Given the description of an element on the screen output the (x, y) to click on. 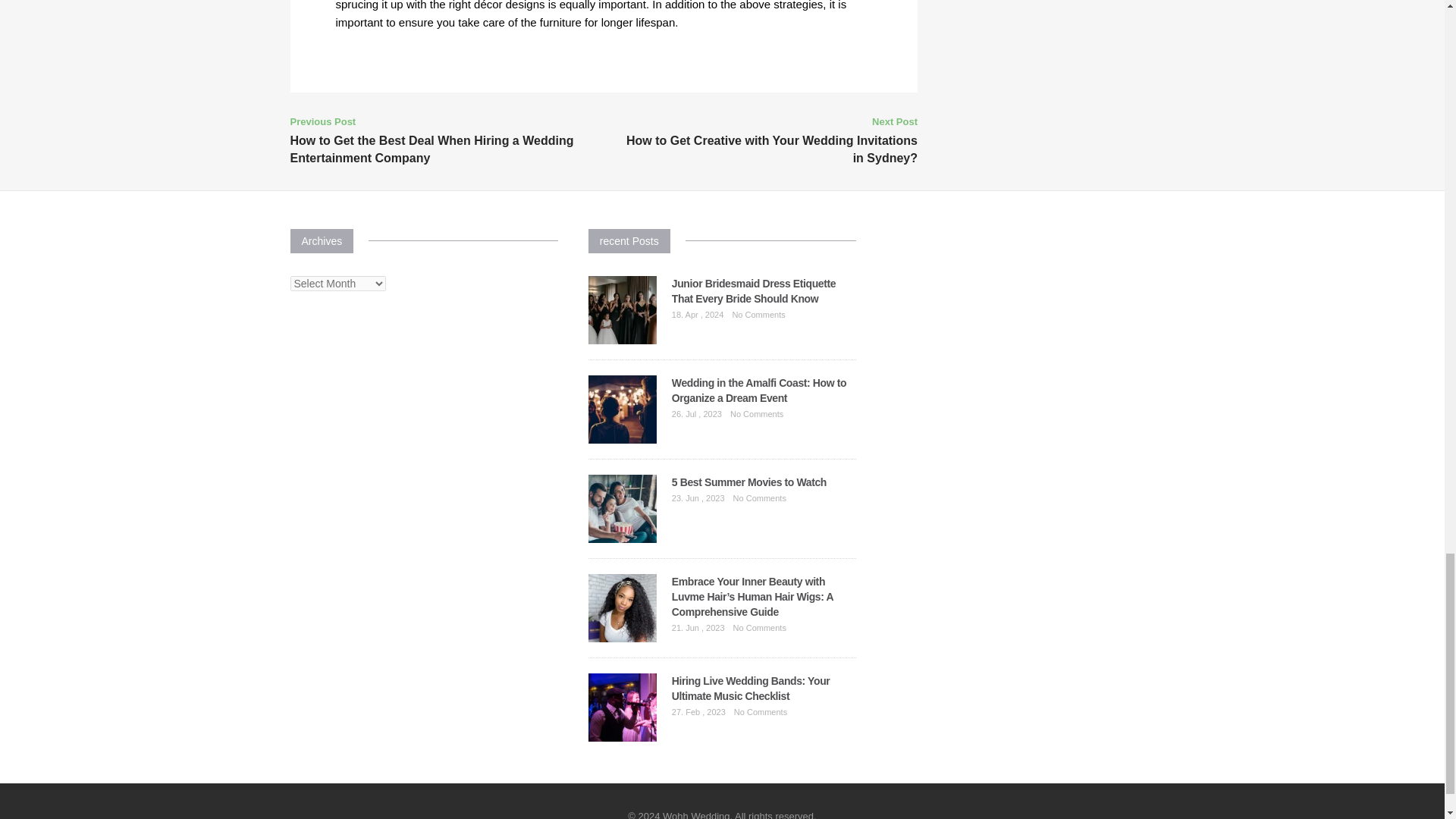
Wedding in the Amalfi Coast: How to Organize a Dream Event (758, 390)
5 Best Summer Movies to Watch (749, 481)
